Given the description of an element on the screen output the (x, y) to click on. 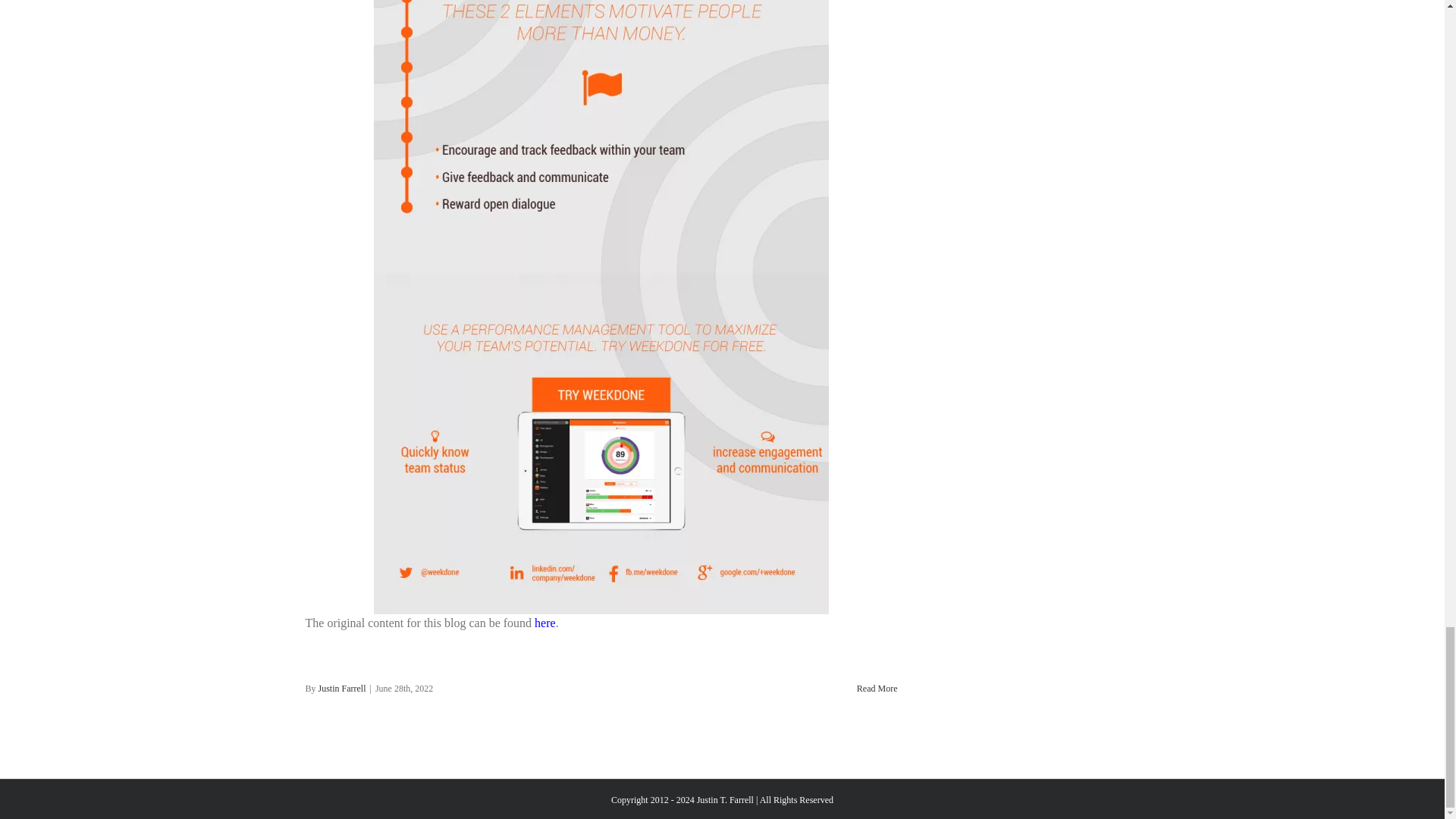
Posts by Justin Farrell (342, 688)
here (545, 622)
Justin Farrell (342, 688)
Read More (877, 688)
